Given the description of an element on the screen output the (x, y) to click on. 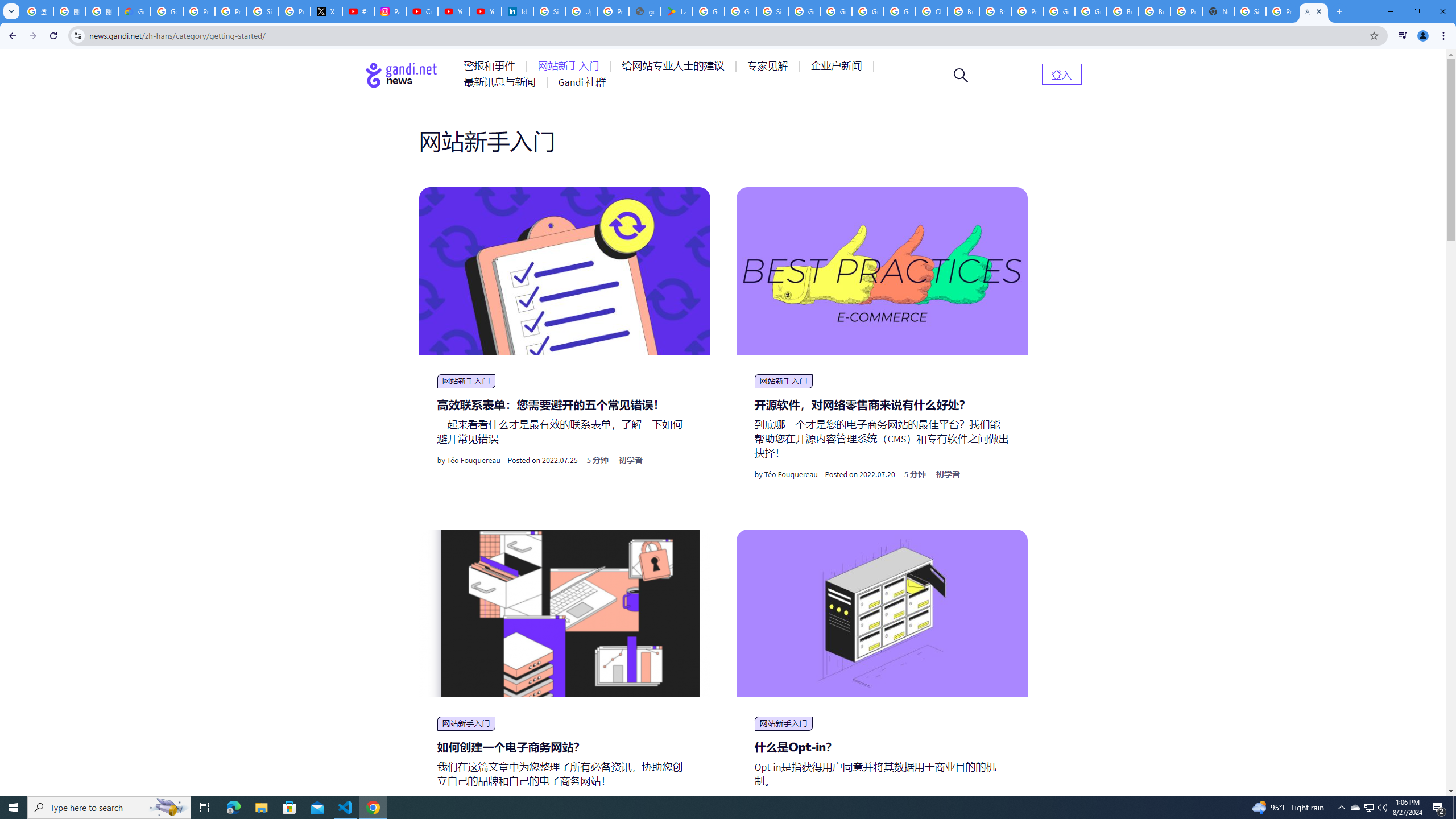
YouTube Culture & Trends - YouTube Top 10, 2021 (485, 11)
AutomationID: menu-item-77763 (674, 65)
Google Cloud Privacy Notice (134, 11)
X (326, 11)
Google Cloud Platform (1059, 11)
